Given the description of an element on the screen output the (x, y) to click on. 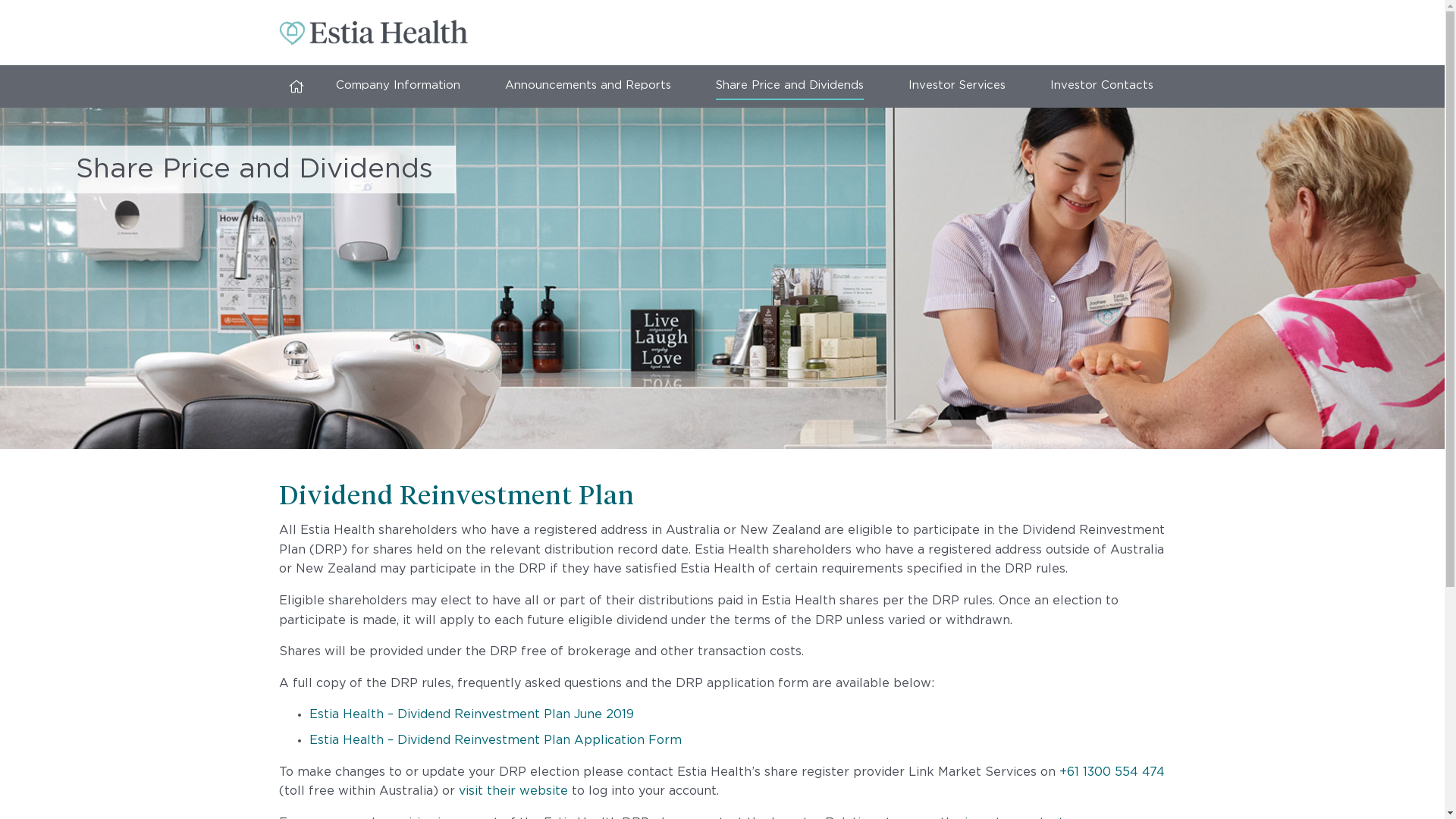
Investor Contacts Element type: text (1101, 86)
Share Price and Dividends Element type: text (789, 86)
Investor Services Element type: text (956, 86)
Company Information Element type: text (397, 86)
Announcements and Reports Element type: text (588, 86)
visit their website
Opens in new window Element type: text (512, 790)
+61 1300 554 474 Element type: text (1111, 771)
